Given the description of an element on the screen output the (x, y) to click on. 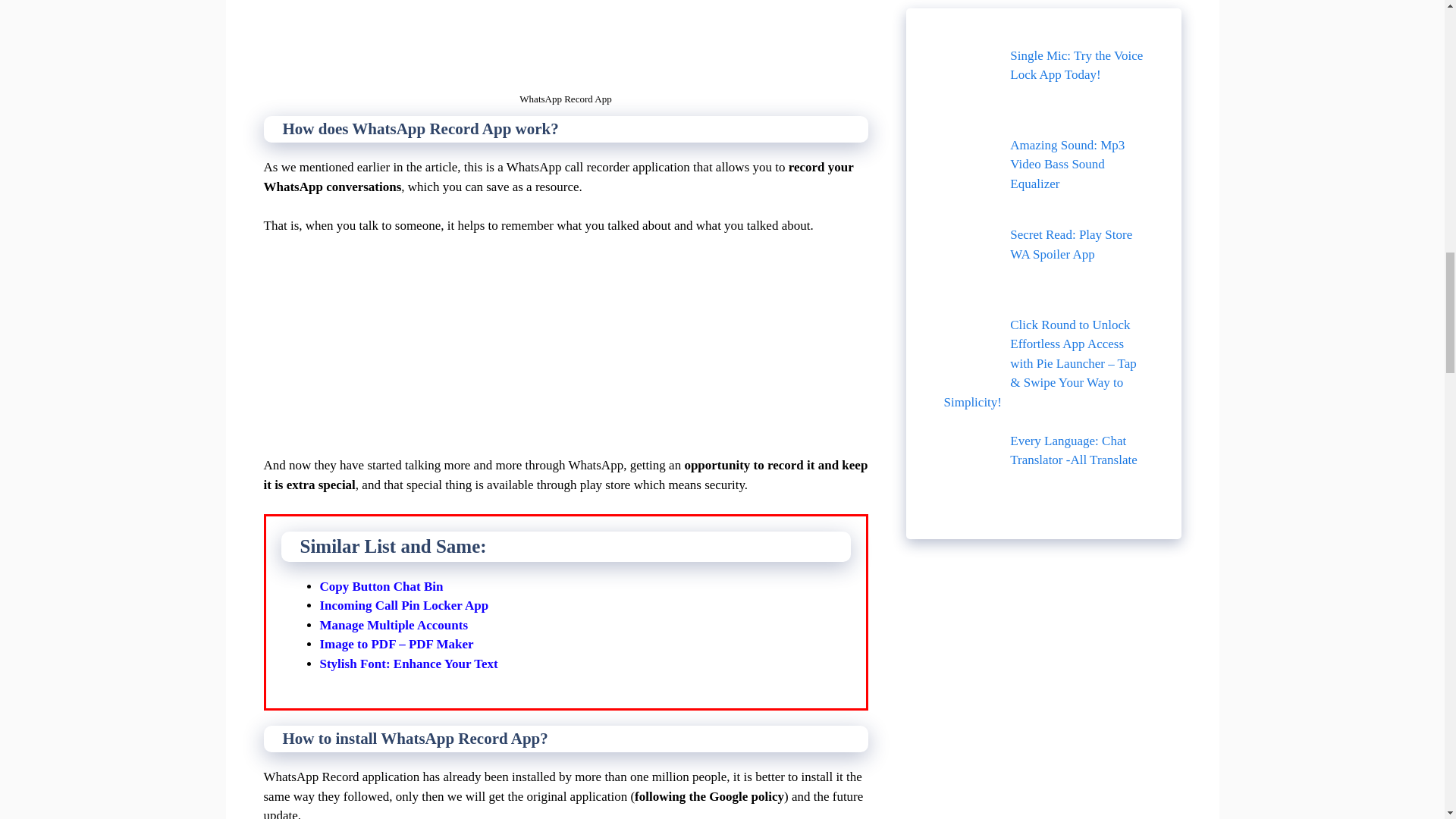
Incoming Call Pin Locker App (404, 605)
Copy Button Chat Bin (382, 586)
Stylish Font: Enhance Your Text (408, 663)
WhatsApp Record: WhatsApp Call Recorder App Play Store 2 (565, 43)
Manage Multiple Accounts (394, 625)
